Given the description of an element on the screen output the (x, y) to click on. 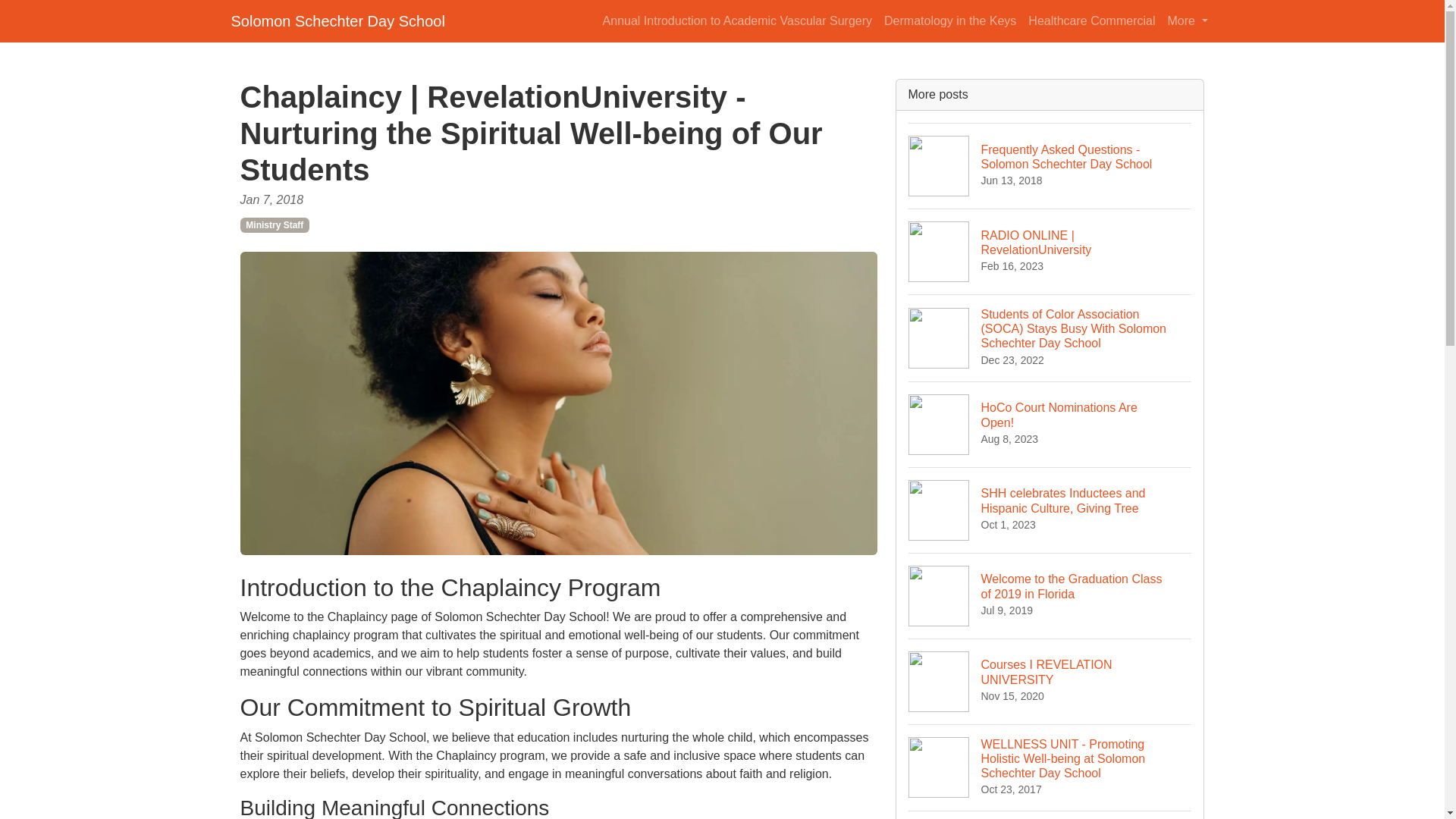
More (1187, 20)
Dermatology in the Keys (949, 20)
Annual Introduction to Academic Vascular Surgery (736, 20)
Healthcare Commercial (1091, 20)
Solomon Schechter Day School (337, 20)
